Given the description of an element on the screen output the (x, y) to click on. 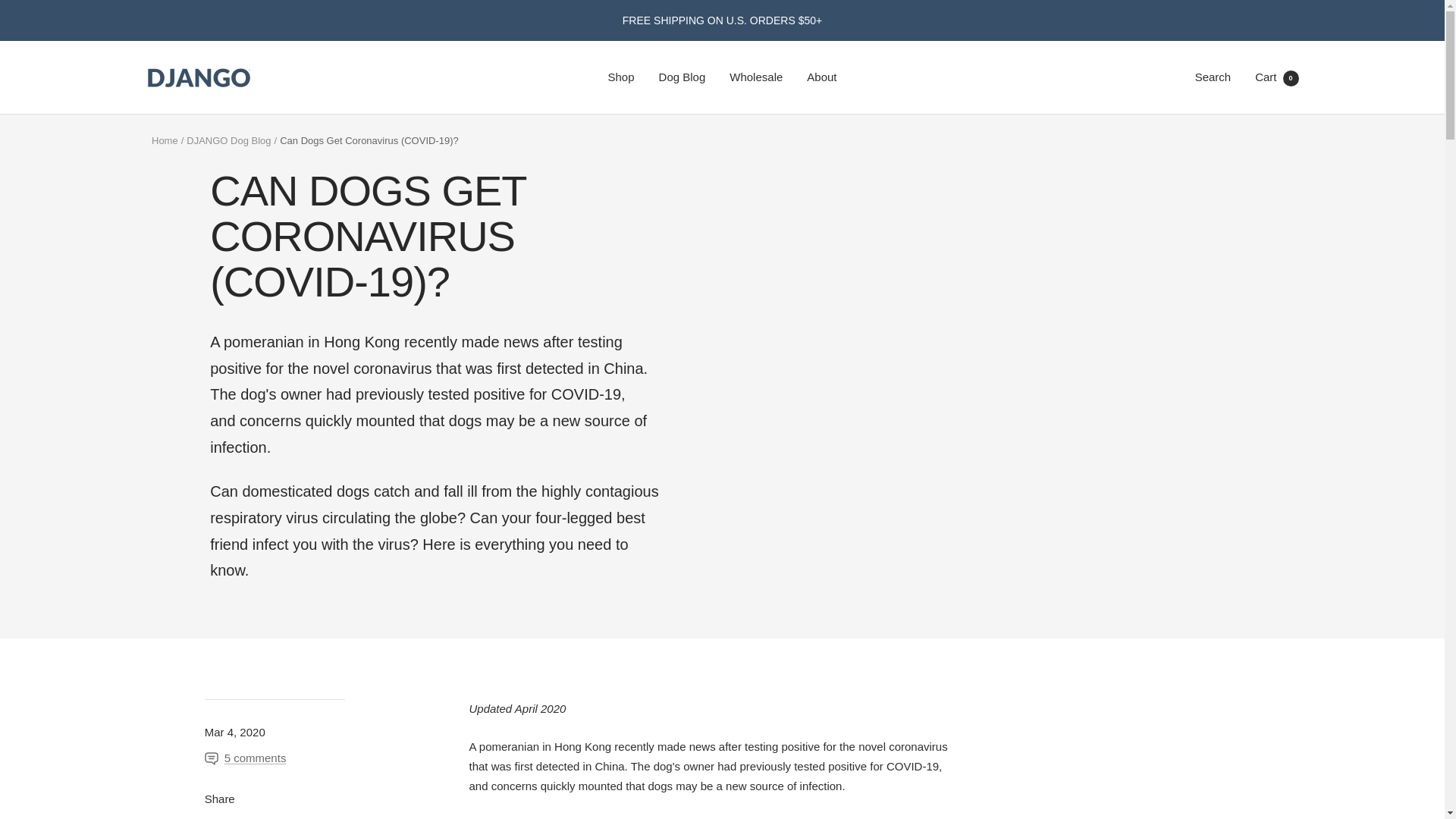
DJANGO (198, 77)
Search (1276, 76)
Home (1213, 76)
About (164, 140)
5 comments (820, 76)
Shop (245, 758)
DJANGO Dog Blog (621, 76)
Dog Blog (228, 140)
Wholesale (682, 76)
